Given the description of an element on the screen output the (x, y) to click on. 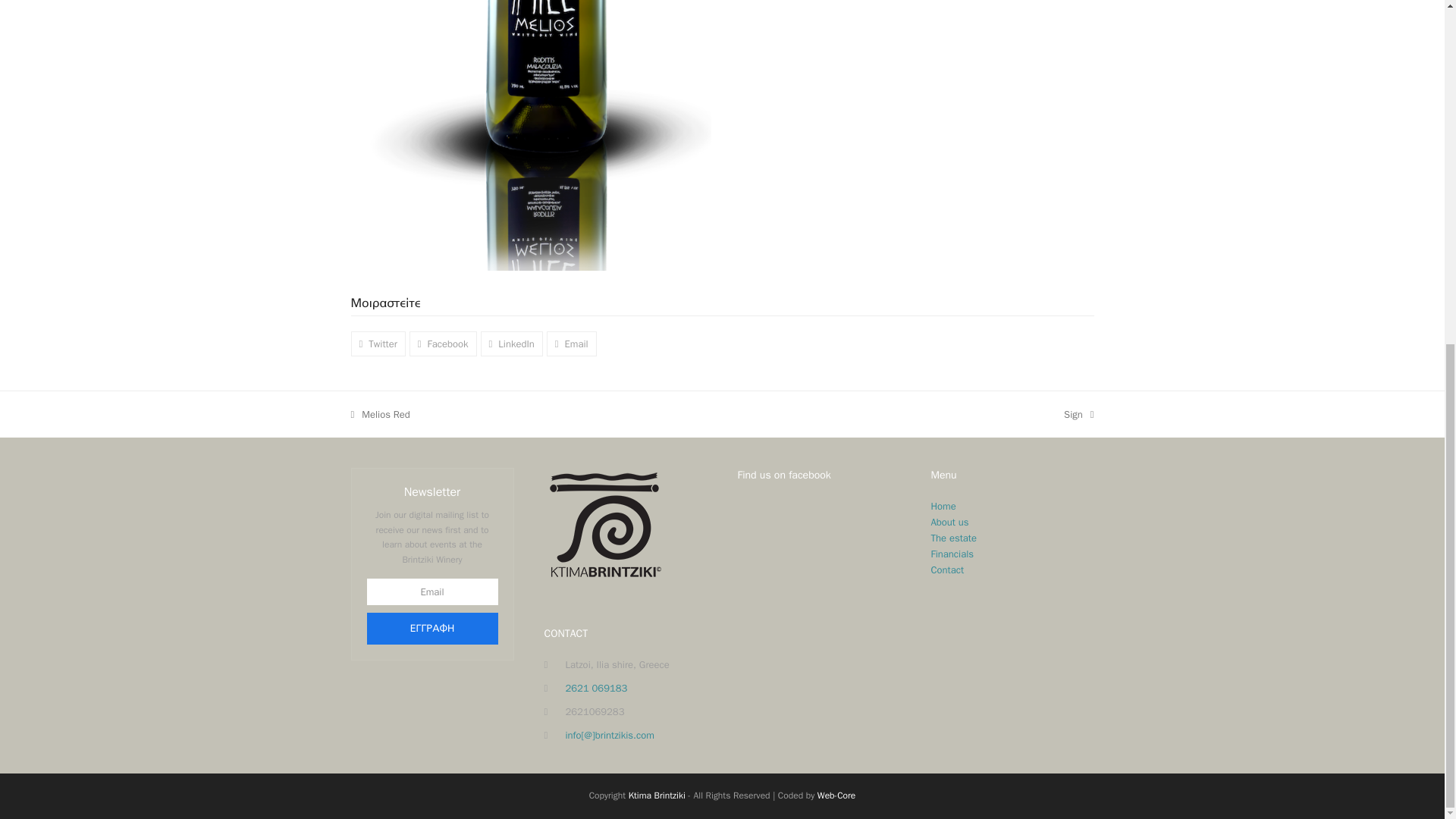
Email (571, 343)
Twitter (377, 343)
Ktima Brintziki (656, 795)
Home (943, 505)
Contact (1078, 414)
LinkedIn (947, 569)
Financials (511, 343)
The estate (952, 553)
Web-Core (379, 414)
Facebook (953, 537)
About us (836, 795)
2621 069183 (443, 343)
